Given the description of an element on the screen output the (x, y) to click on. 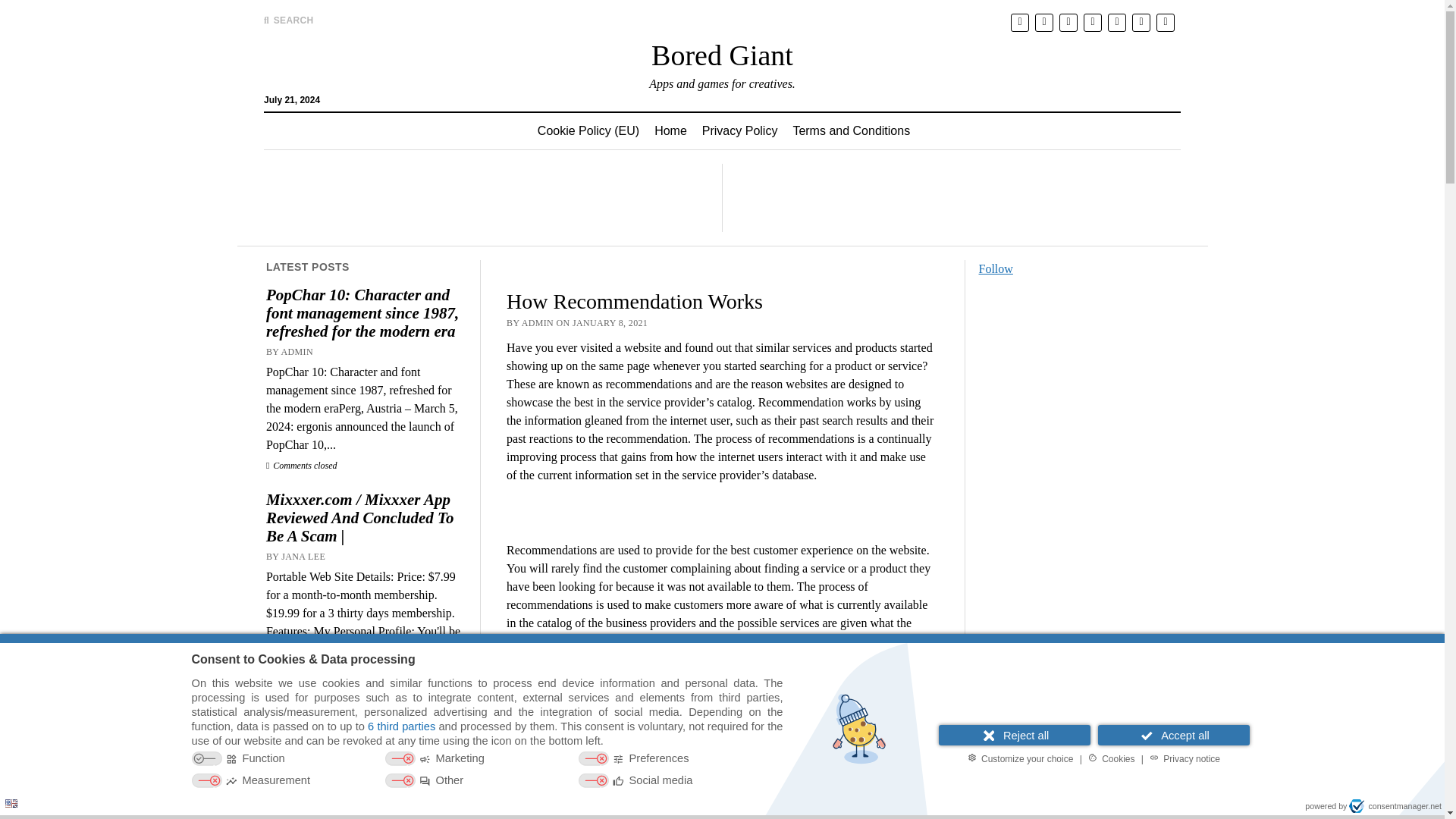
Customize your choice (1020, 758)
Comments closed (301, 670)
Bloglovin (365, 704)
Search (945, 129)
Accept all (1173, 734)
Cookies (1111, 758)
Purpose (486, 770)
consentmanager.net (1395, 806)
SEARCH (288, 20)
Language: en (11, 803)
Bored Giant (721, 55)
Privacy notice (1184, 758)
Terms and Conditions (850, 131)
Language: en (11, 803)
